Given the description of an element on the screen output the (x, y) to click on. 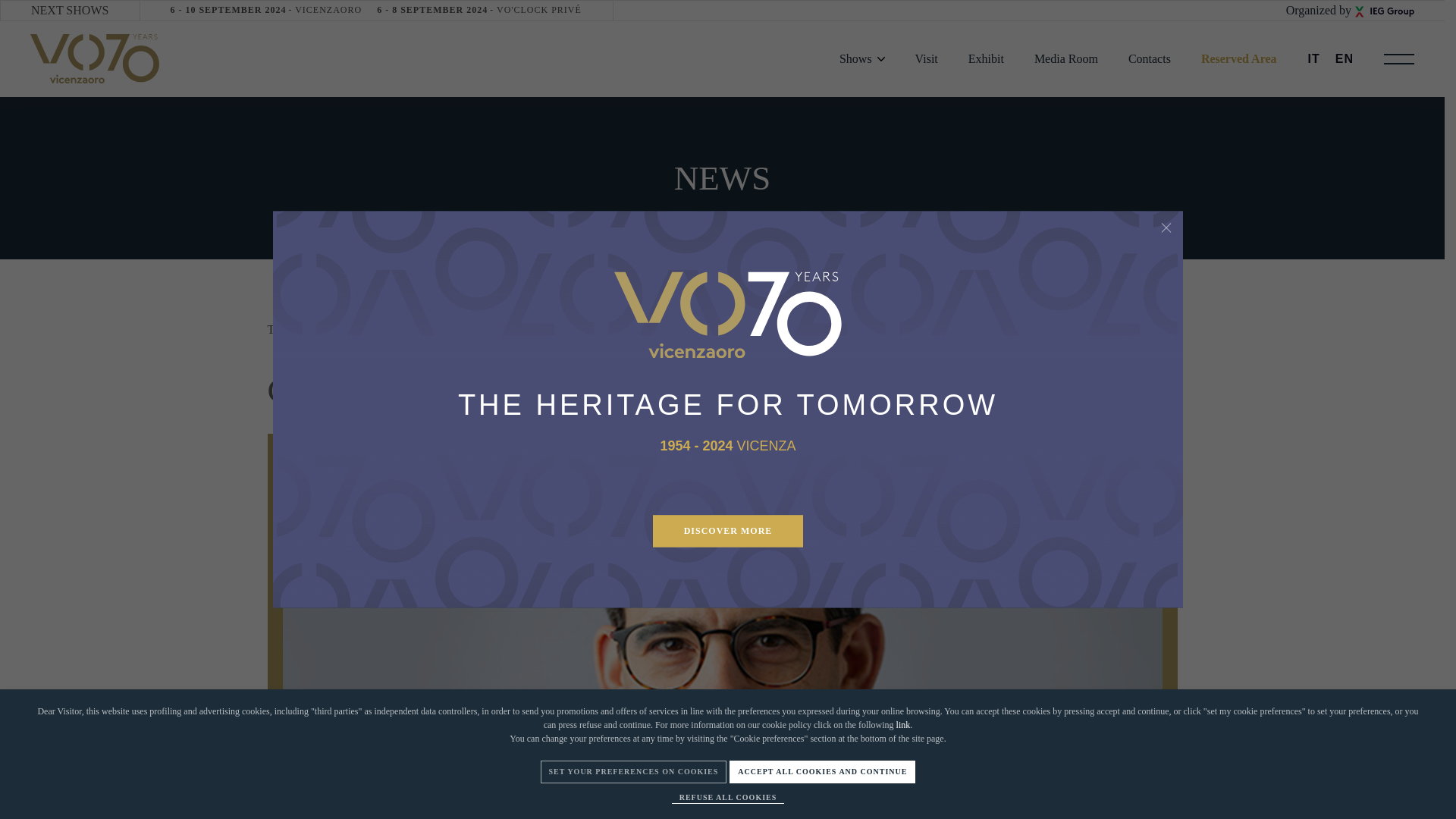
Reserved Area (265, 10)
EN (1238, 59)
